Given the description of an element on the screen output the (x, y) to click on. 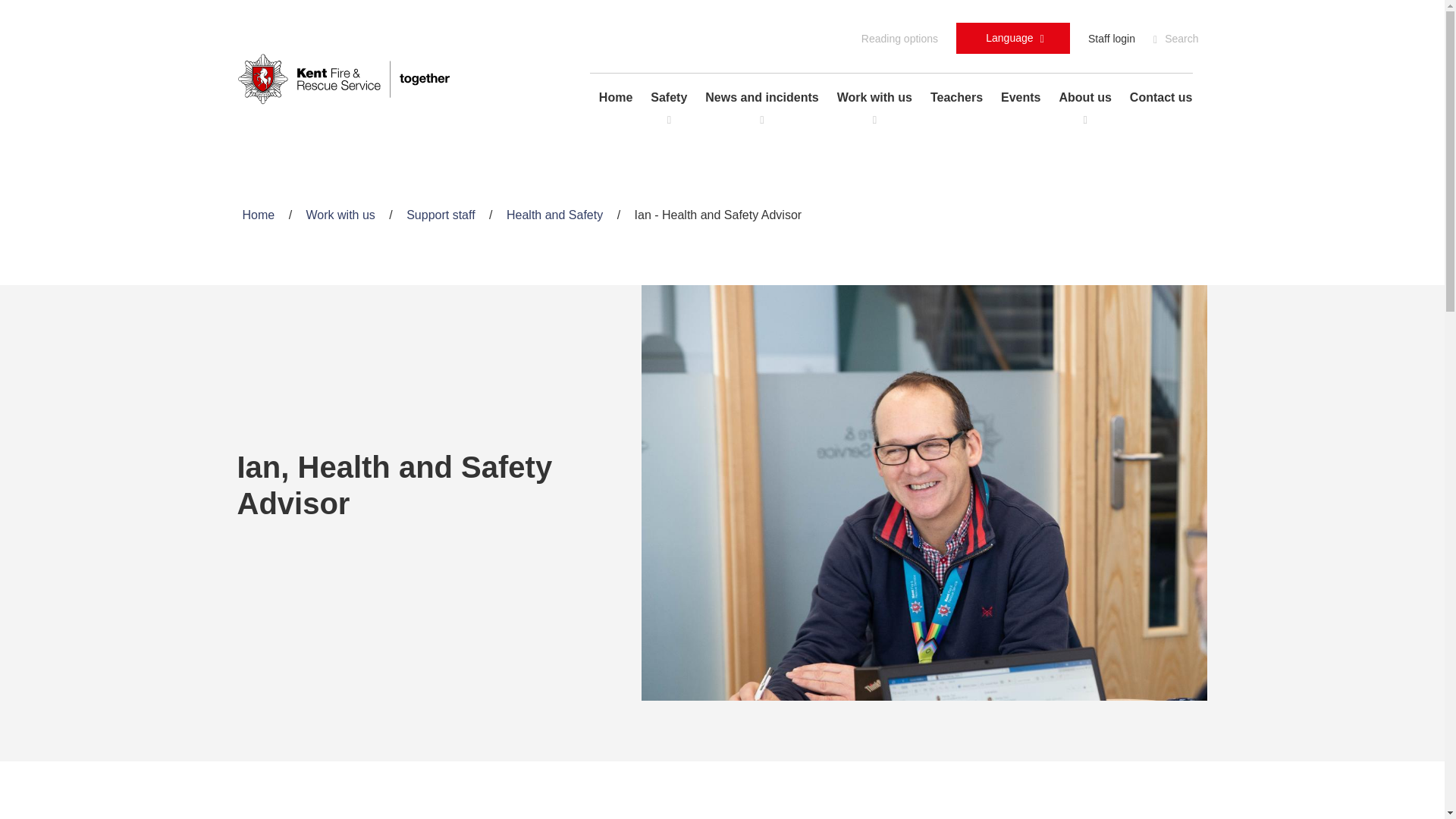
Reading options (899, 38)
Skip to main content (1013, 38)
